Given the description of an element on the screen output the (x, y) to click on. 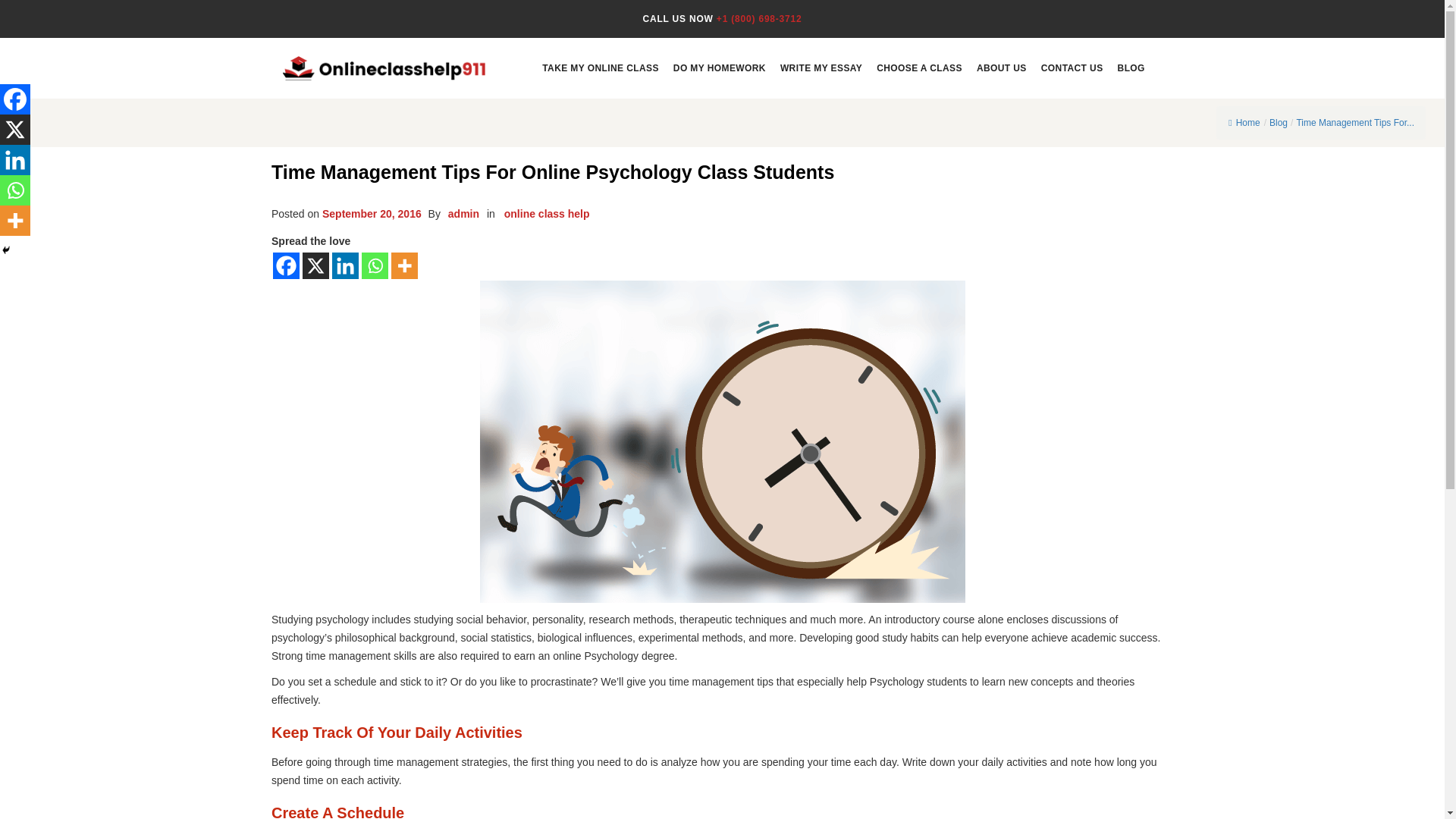
Time Management Tips For Online Psychology Class Students (1354, 122)
Linkedin (15, 159)
WRITE MY ESSAY (821, 67)
Time Management Tips For... (1354, 122)
DO MY HOMEWORK (719, 67)
Home (1243, 122)
CHOOSE A CLASS (919, 67)
X (15, 129)
September 20, 2016 (371, 214)
Facebook (286, 264)
Hide (5, 250)
Whatsapp (15, 190)
BLOG (1130, 67)
Blog (1278, 122)
Blog (1278, 122)
